Given the description of an element on the screen output the (x, y) to click on. 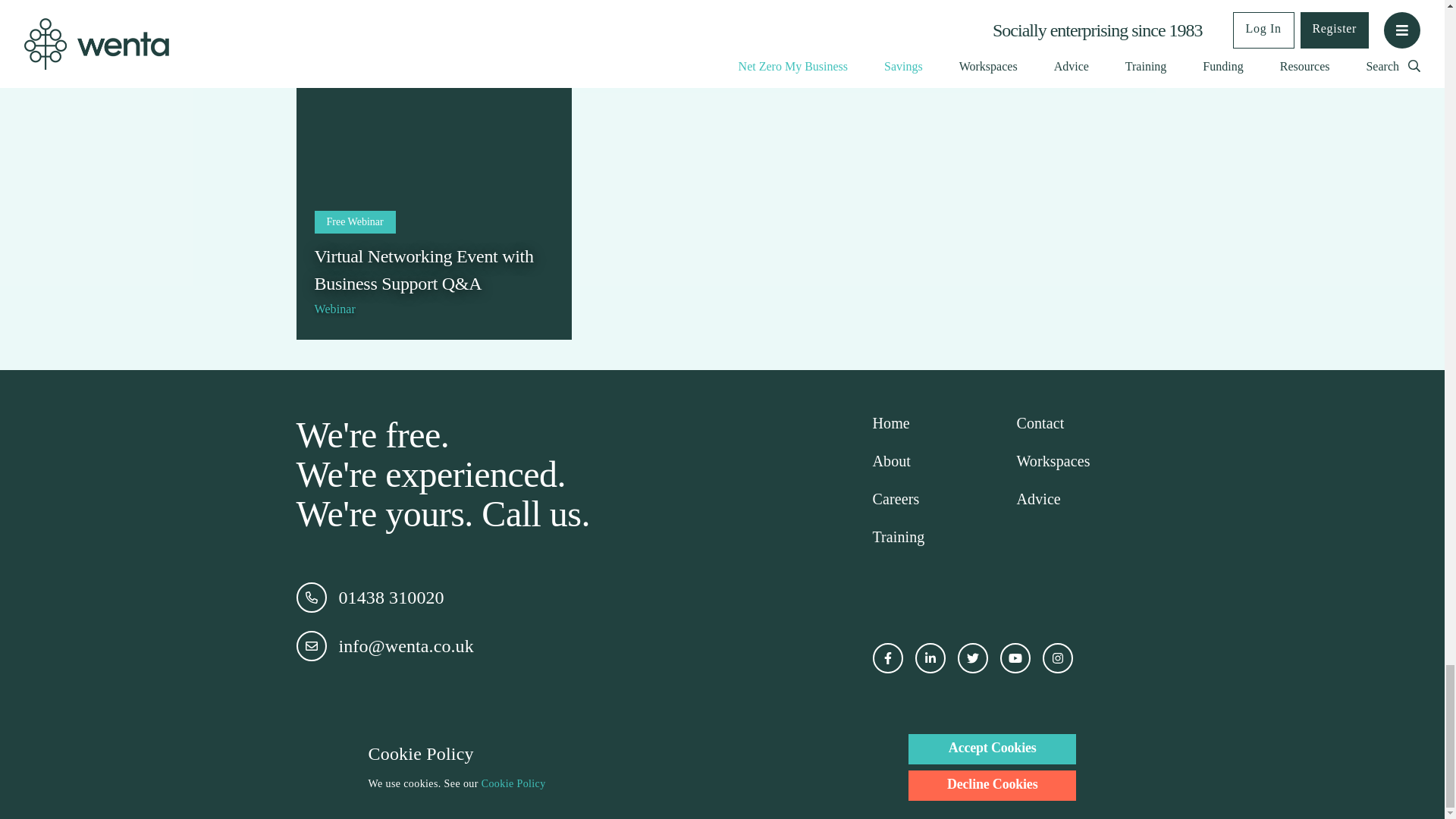
About (891, 460)
Contact (1040, 422)
Careers (895, 498)
Workspaces (1052, 460)
Advice (1037, 498)
01438 310020 (505, 597)
Training (898, 536)
